Given the description of an element on the screen output the (x, y) to click on. 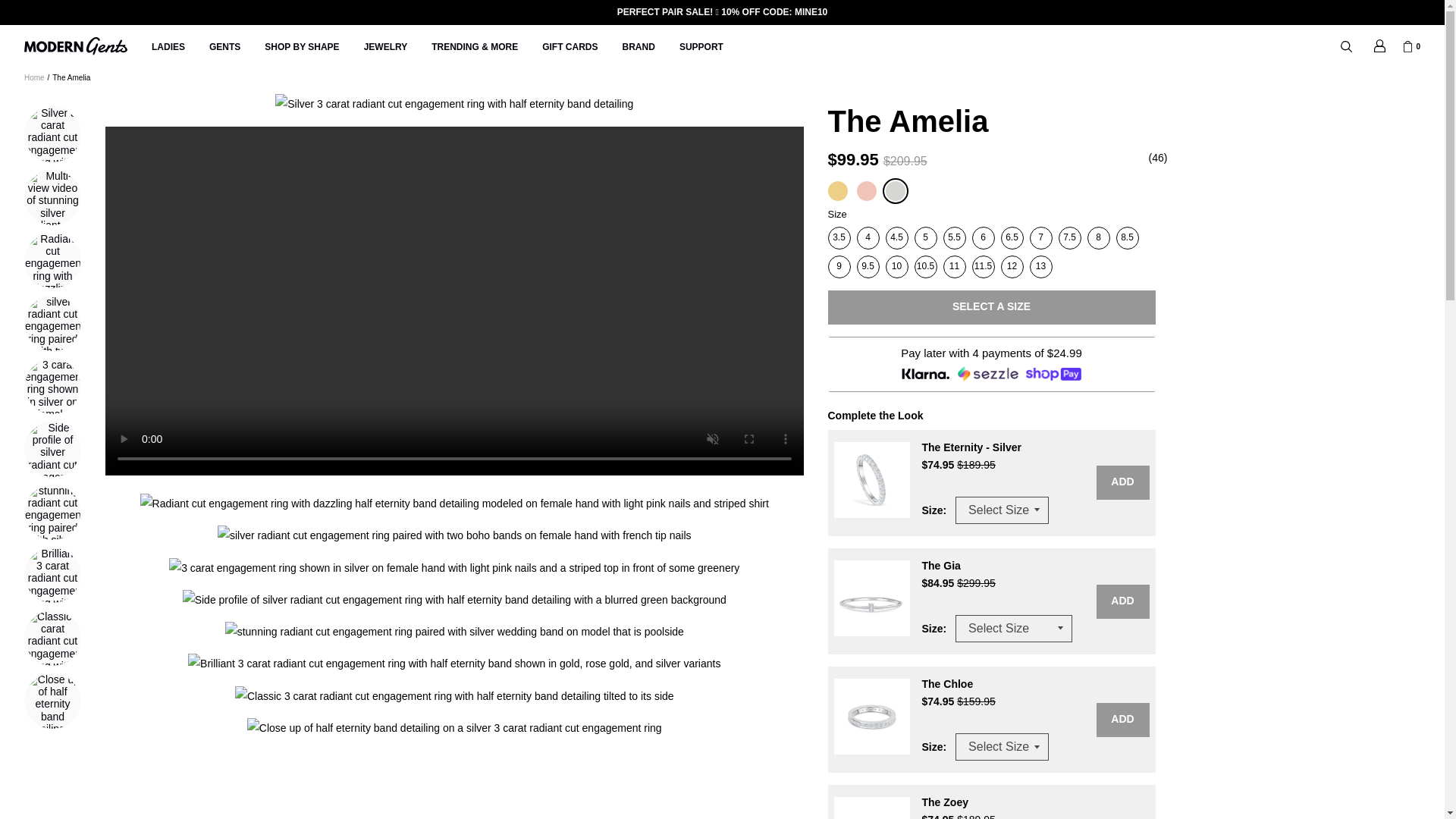
Home (34, 77)
